Given the description of an element on the screen output the (x, y) to click on. 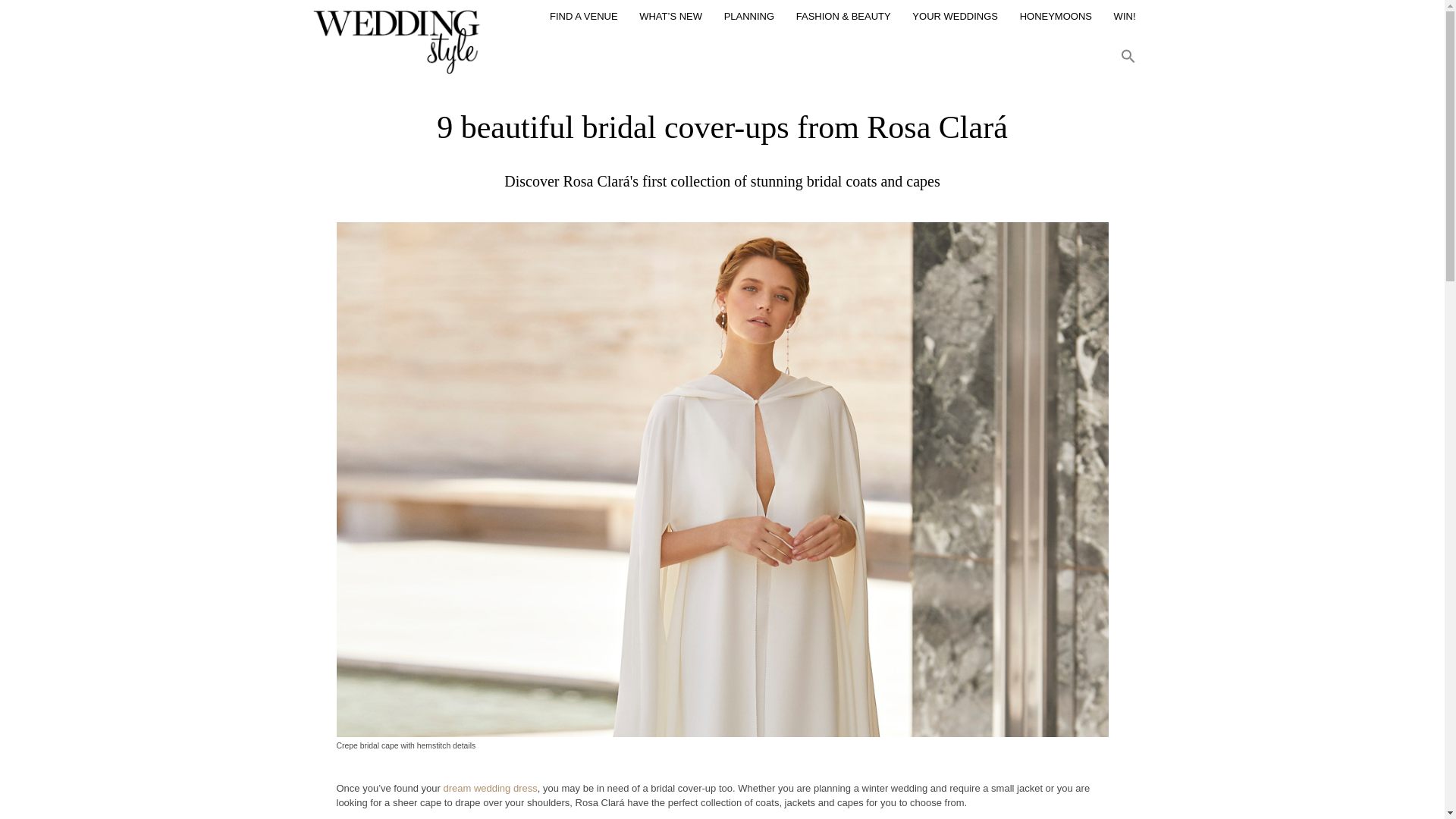
FIND A VENUE (583, 19)
dream wedding dress (489, 787)
PLANNING (748, 19)
HONEYMOONS (1056, 19)
YOUR WEDDINGS (954, 19)
